Given the description of an element on the screen output the (x, y) to click on. 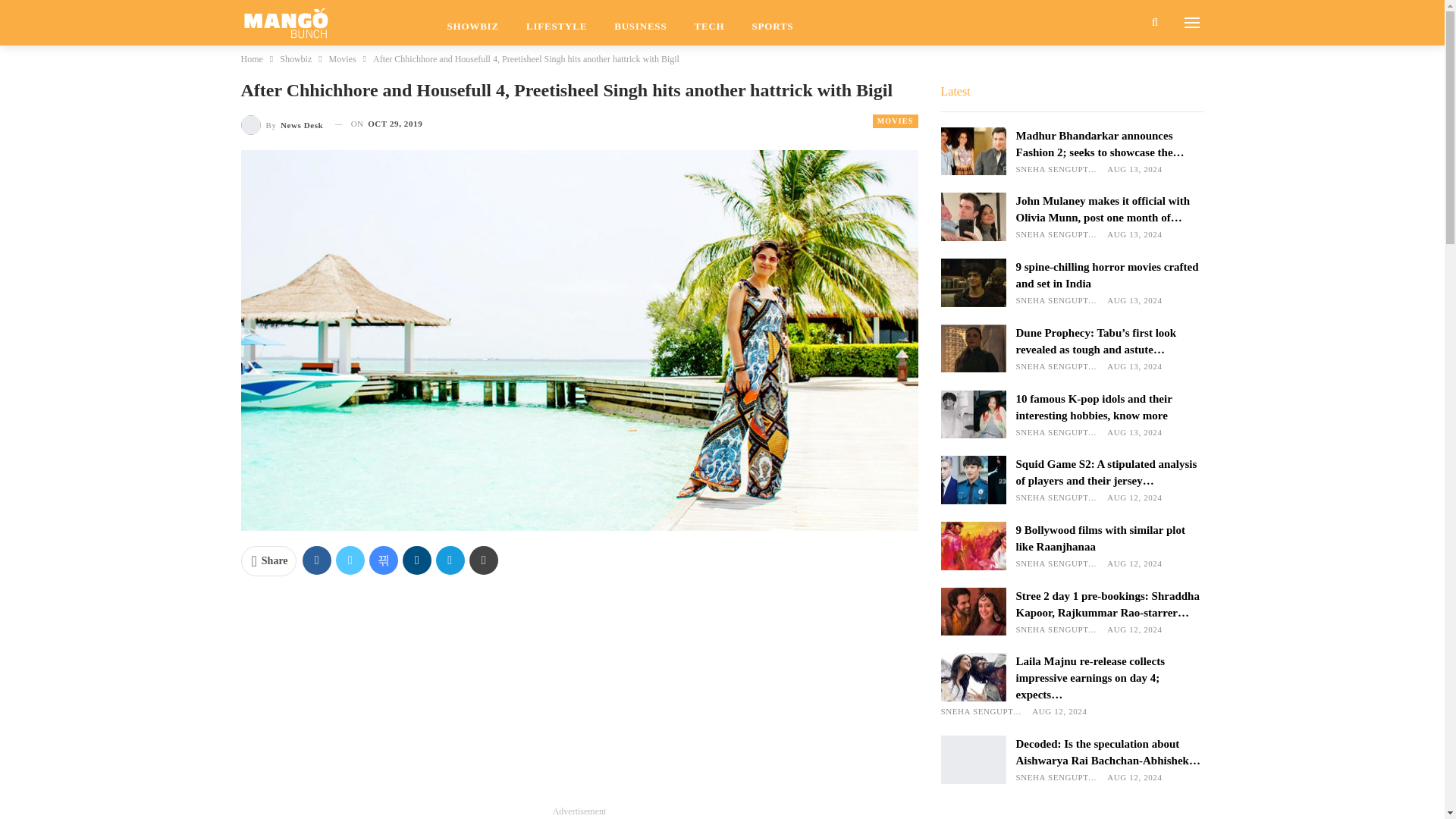
TECH (708, 22)
Showbiz (295, 58)
Movies (342, 58)
BUSINESS (639, 22)
Browse Author Articles (282, 123)
SHOWBIZ (472, 22)
Home (252, 58)
By News Desk (282, 123)
MOVIES (895, 120)
